Given the description of an element on the screen output the (x, y) to click on. 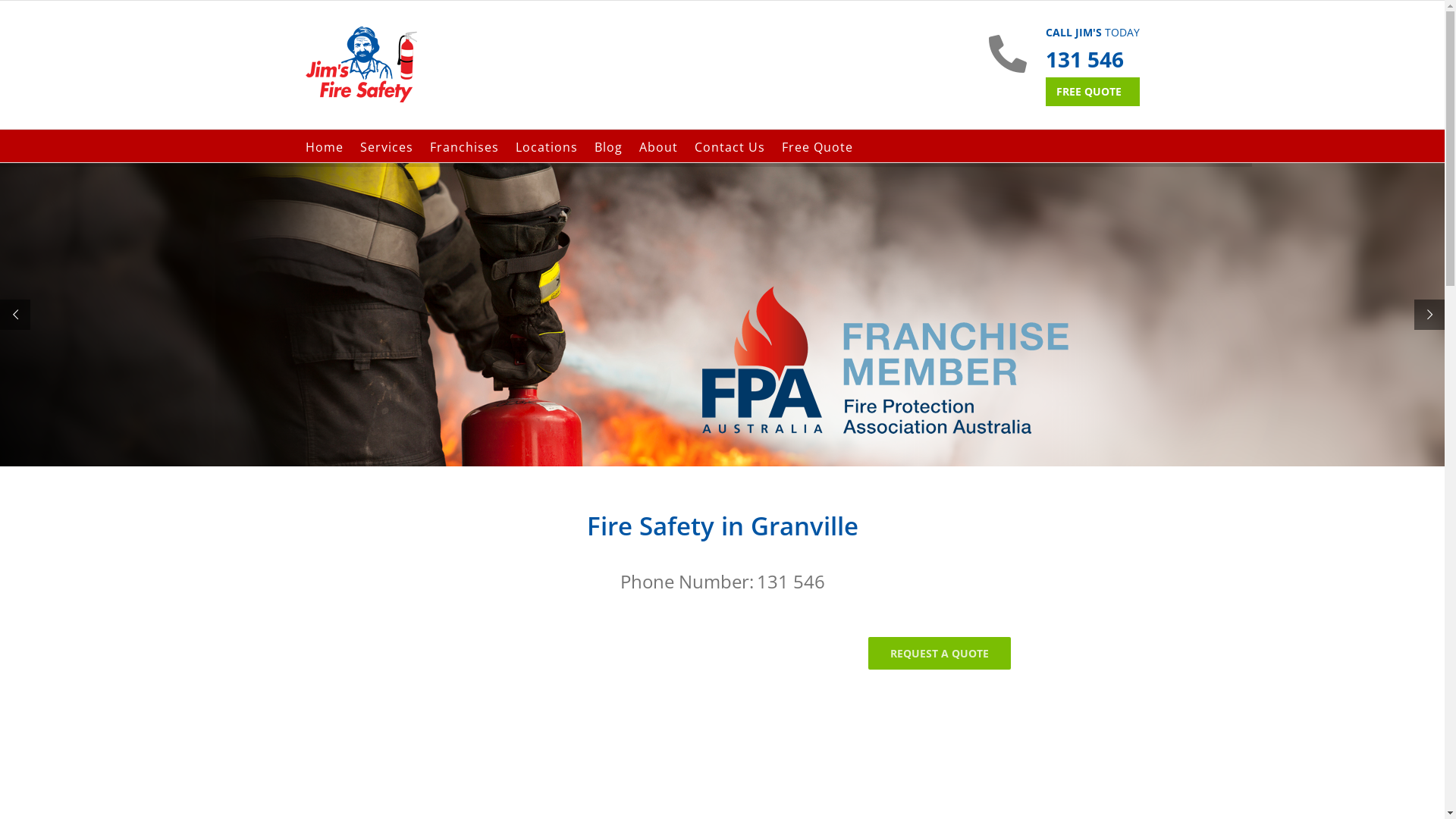
Free Quote Element type: text (816, 145)
Franchises Element type: text (463, 145)
FREE QUOTE Element type: text (1091, 91)
Contact Us Element type: text (729, 145)
Locations Element type: text (546, 145)
Services Element type: text (385, 145)
Blog Element type: text (608, 145)
CALL JIM'S TODAY
131 546 Element type: text (1091, 50)
About Element type: text (657, 145)
Home Element type: text (323, 145)
REQUEST A QUOTE Element type: text (938, 653)
